Given the description of an element on the screen output the (x, y) to click on. 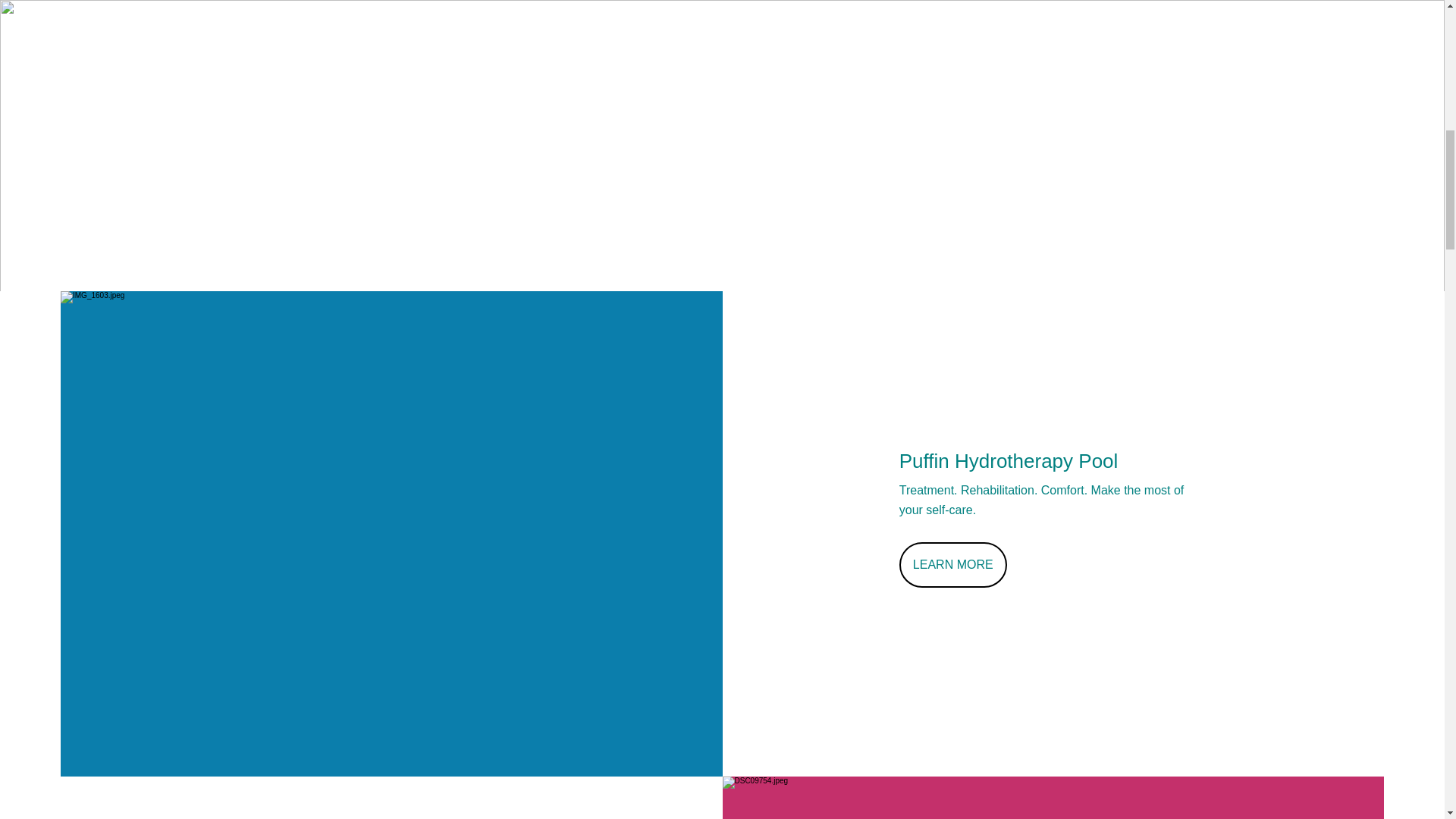
LEARN MORE (953, 565)
